Given the description of an element on the screen output the (x, y) to click on. 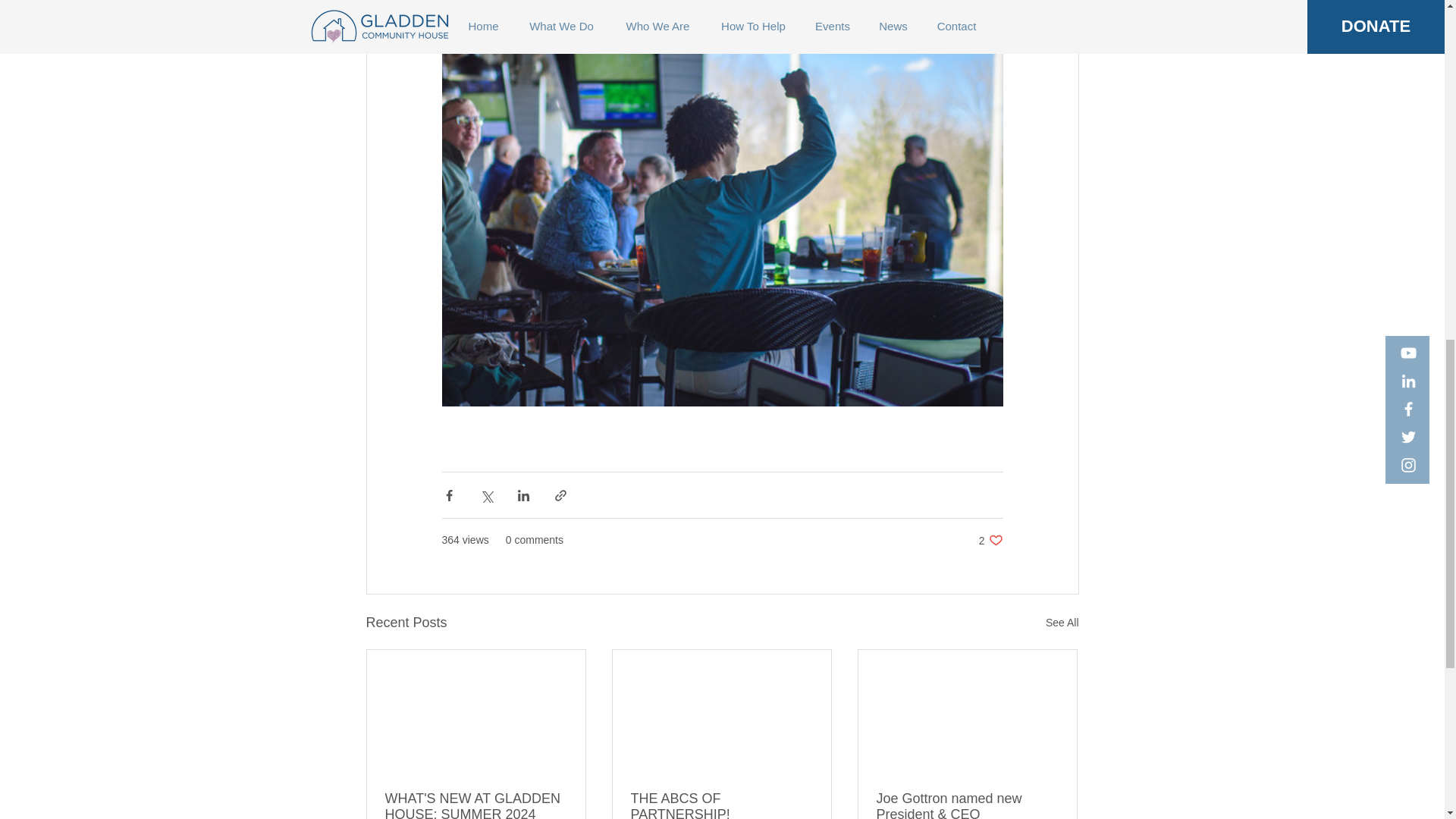
THE ABCS OF PARTNERSHIP! (990, 540)
See All (721, 805)
WHAT'S NEW AT GLADDEN HOUSE: SUMMER 2024 (1061, 622)
